Given the description of an element on the screen output the (x, y) to click on. 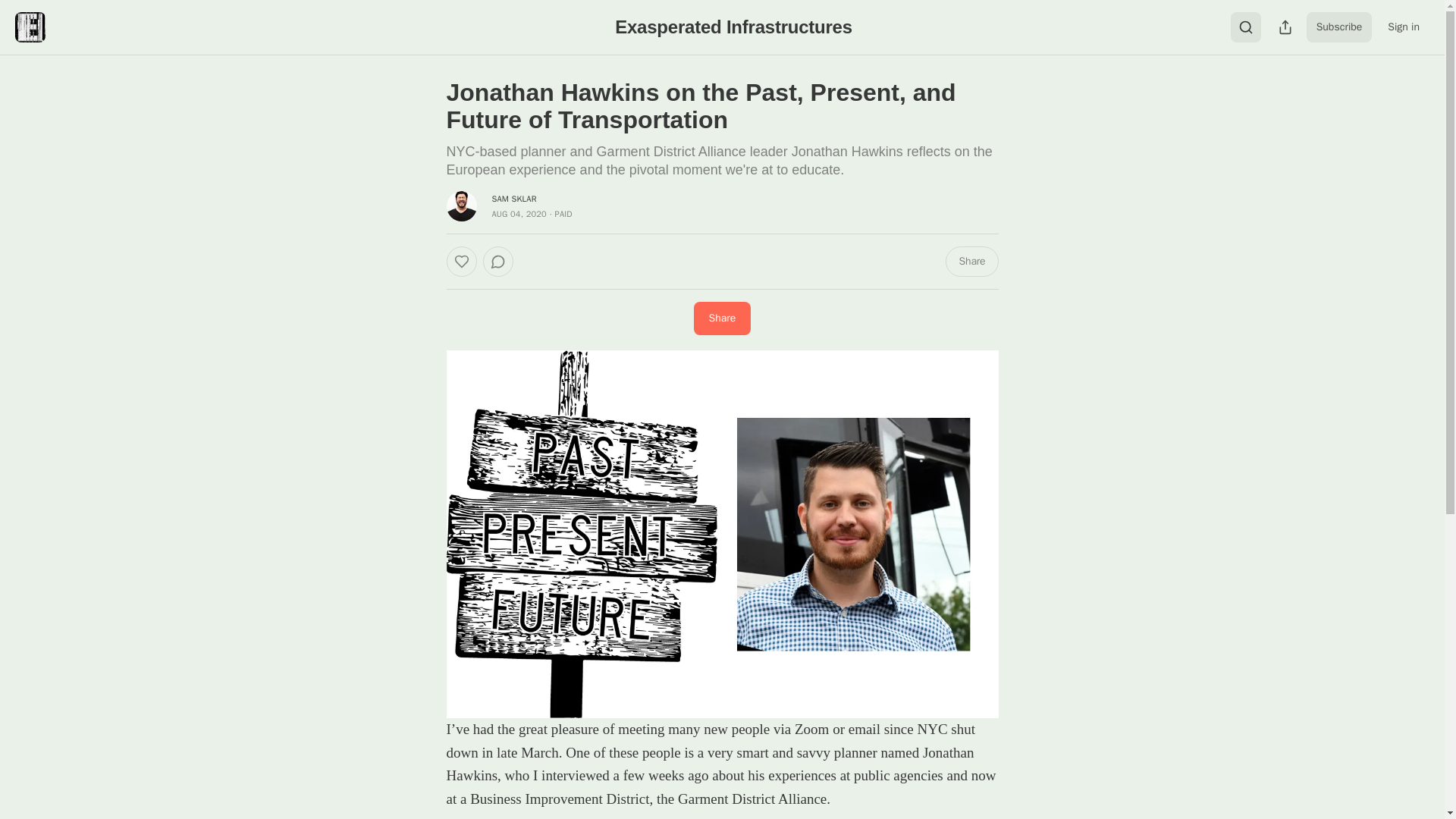
Share (970, 261)
SAM SKLAR (513, 198)
Subscribe (1339, 27)
Share (722, 318)
Exasperated Infrastructures (732, 26)
Sign in (1403, 27)
